Given the description of an element on the screen output the (x, y) to click on. 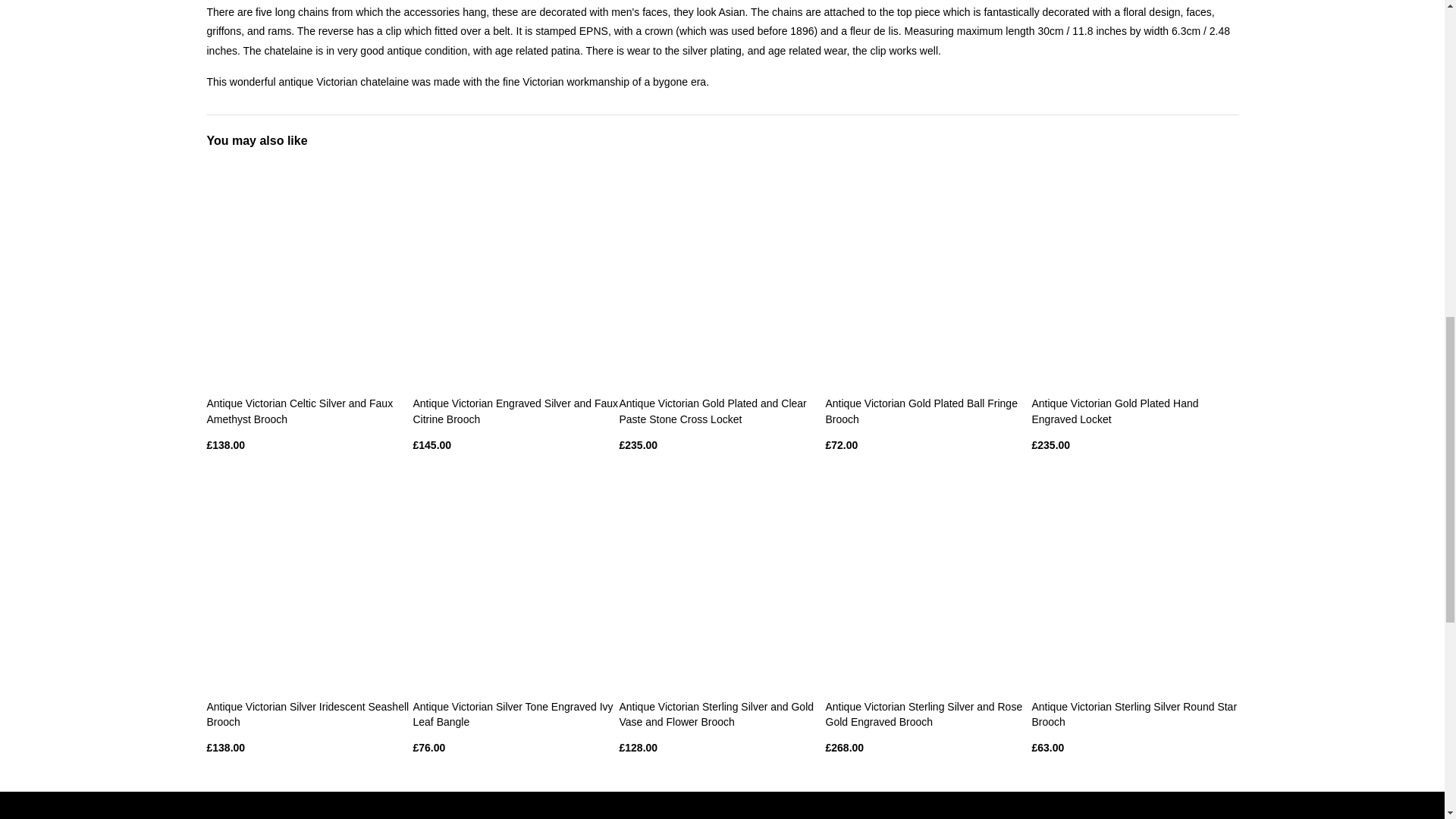
Antique Victorian Gold Plated Ball Fringe Brooch (920, 411)
Antique Victorian Silver Iridescent Seashell Brooch (307, 714)
Antique Victorian Gold Plated Hand Engraved Locket (1114, 411)
Antique Victorian Engraved Silver and Faux Citrine Brooch (514, 411)
Antique Victorian Celtic Silver and Faux Amethyst Brooch (299, 411)
